Given the description of an element on the screen output the (x, y) to click on. 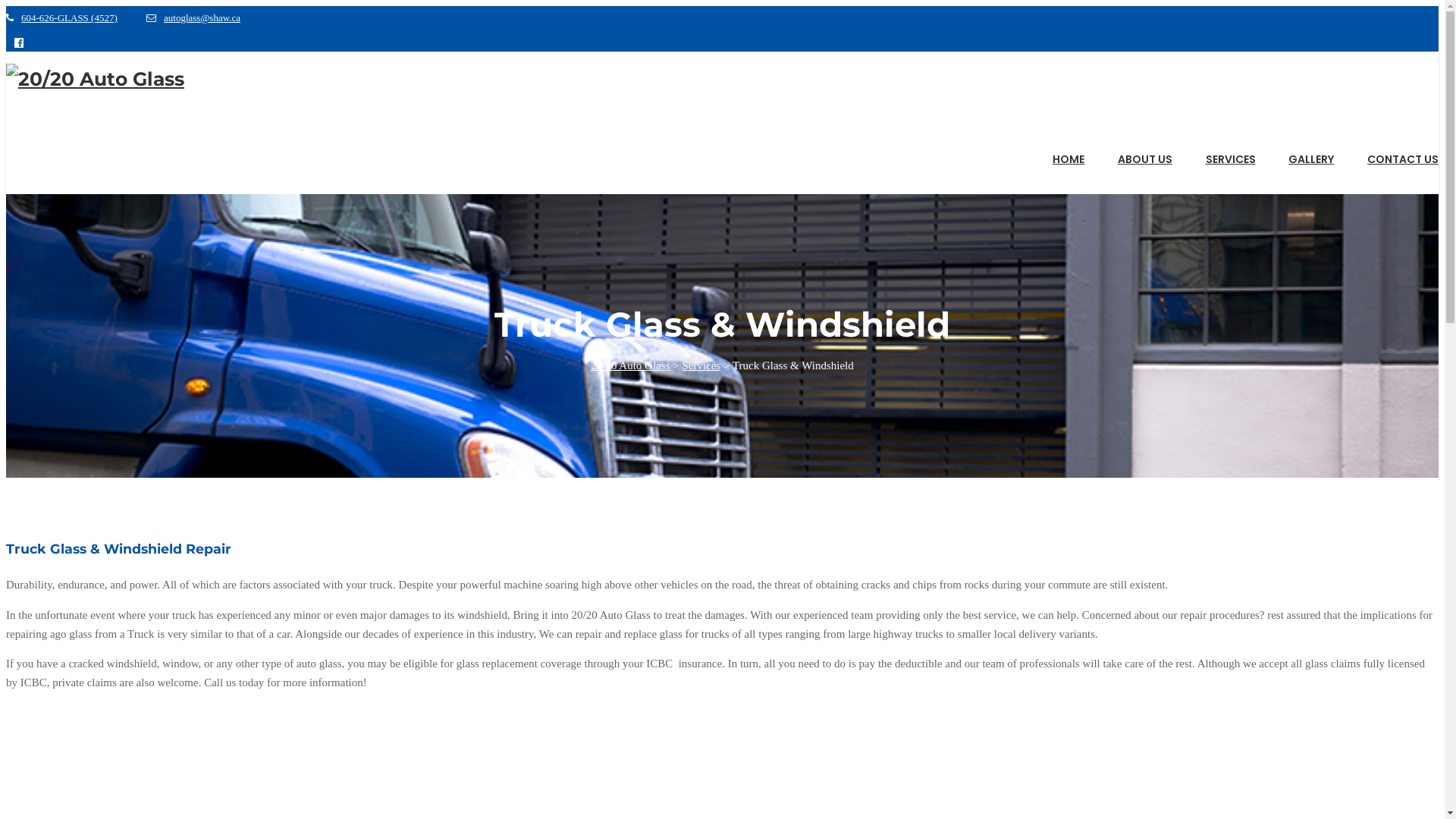
604-626-GLASS (4527) Element type: text (61, 18)
ABOUT US Element type: text (1140, 153)
GALLERY Element type: text (1307, 153)
HOME Element type: text (1064, 153)
20/20 Auto Glass Element type: text (629, 365)
autoglass@shaw.ca Element type: text (193, 18)
Services Element type: text (700, 365)
CONTACT US Element type: text (1393, 153)
SERVICES Element type: text (1226, 153)
